Given the description of an element on the screen output the (x, y) to click on. 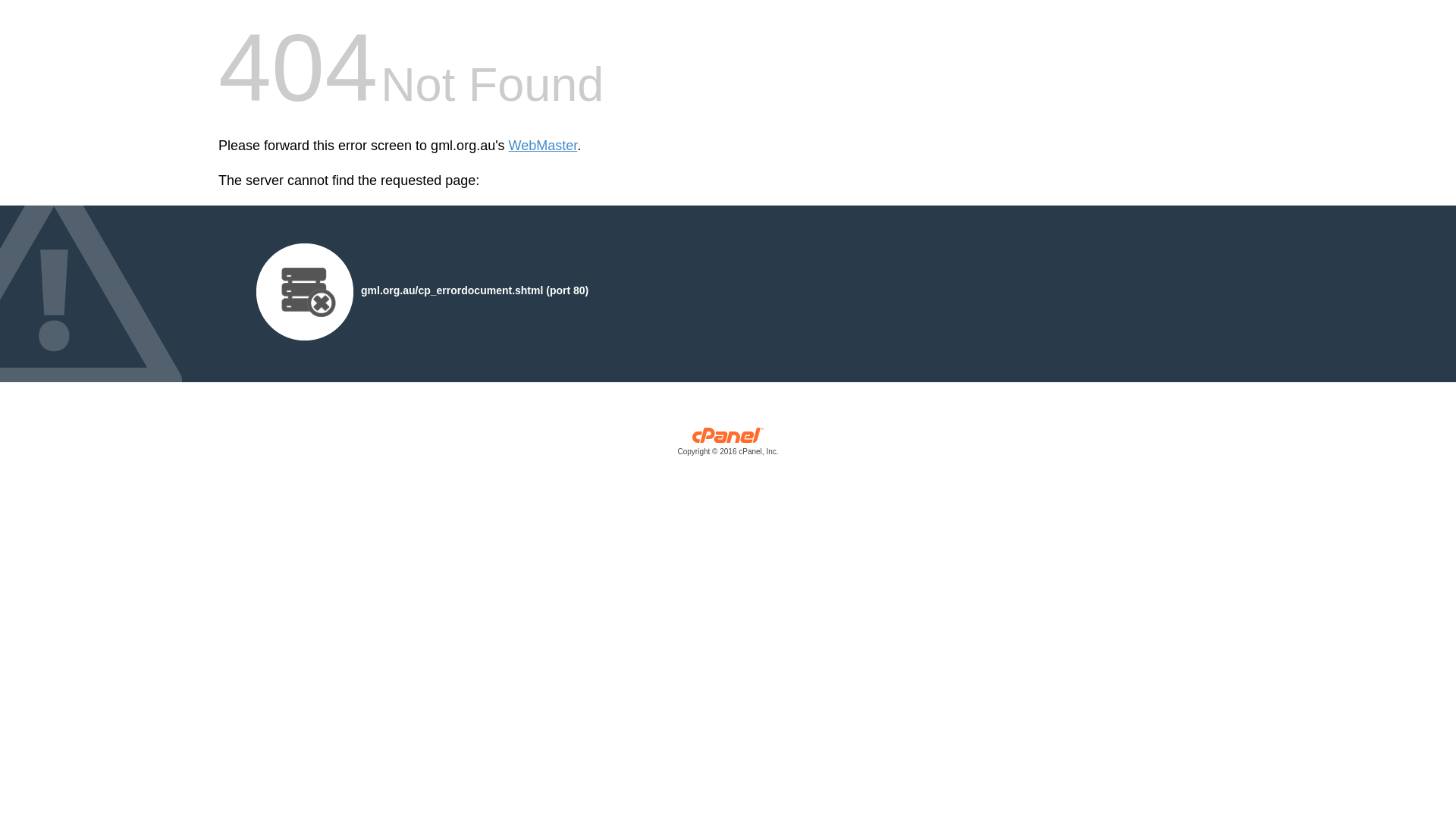
WebMaster Element type: text (542, 145)
